Given the description of an element on the screen output the (x, y) to click on. 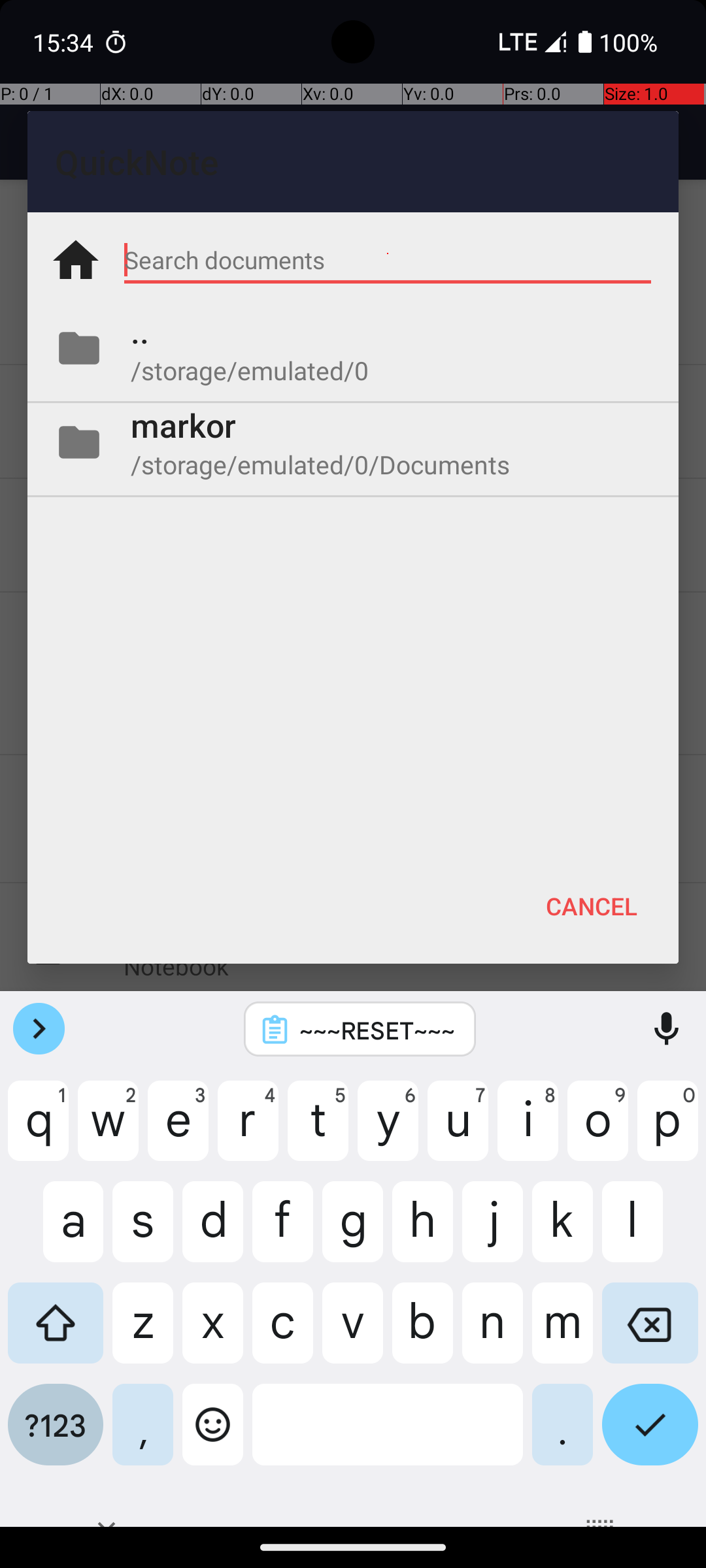
Folder markor  Element type: android.widget.LinearLayout (352, 442)
